Given the description of an element on the screen output the (x, y) to click on. 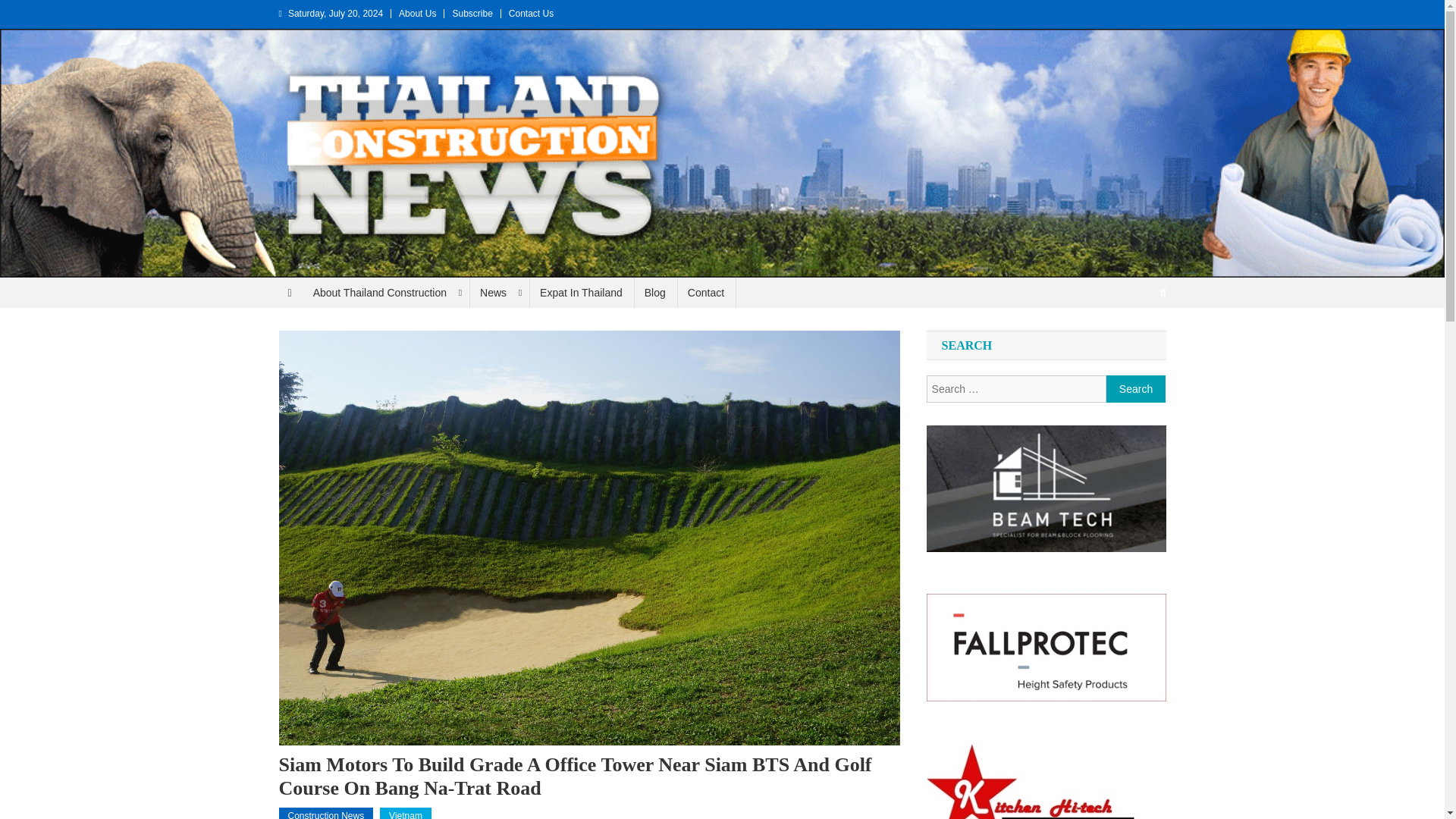
Subscribe (471, 13)
Contact Us (530, 13)
Contact (705, 292)
News (498, 292)
Expat In Thailand (580, 292)
Search (1136, 388)
Construction News (326, 813)
Blog (654, 292)
Vietnam (405, 813)
Thailand Construction and Engineering News (262, 292)
About Us (416, 13)
Search (1136, 388)
Search (1133, 343)
About Thailand Construction (385, 292)
